Given the description of an element on the screen output the (x, y) to click on. 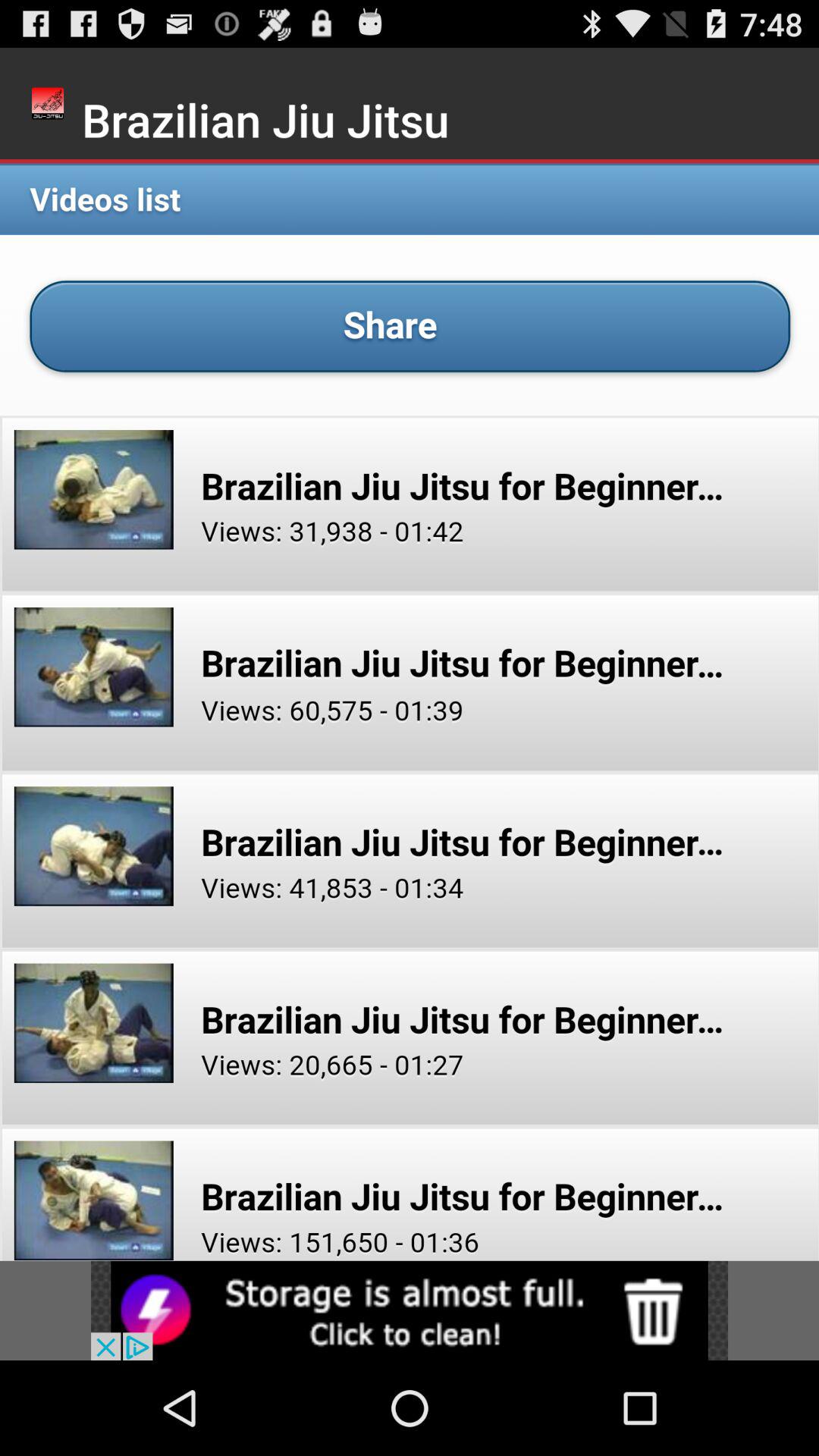
videos list share option (409, 709)
